Given the description of an element on the screen output the (x, y) to click on. 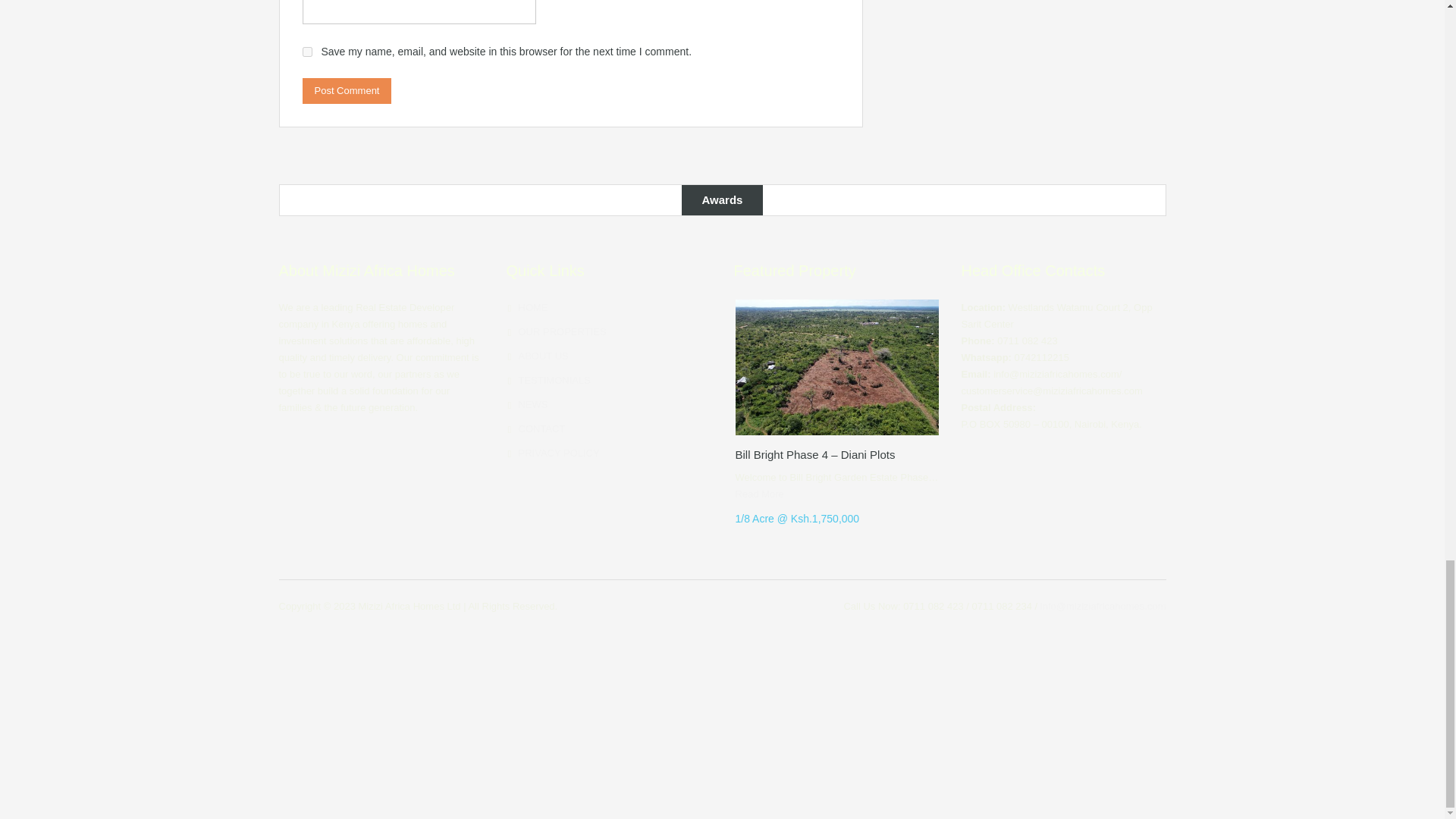
Post Comment (346, 90)
yes (306, 51)
Post Comment (346, 90)
